Given the description of an element on the screen output the (x, y) to click on. 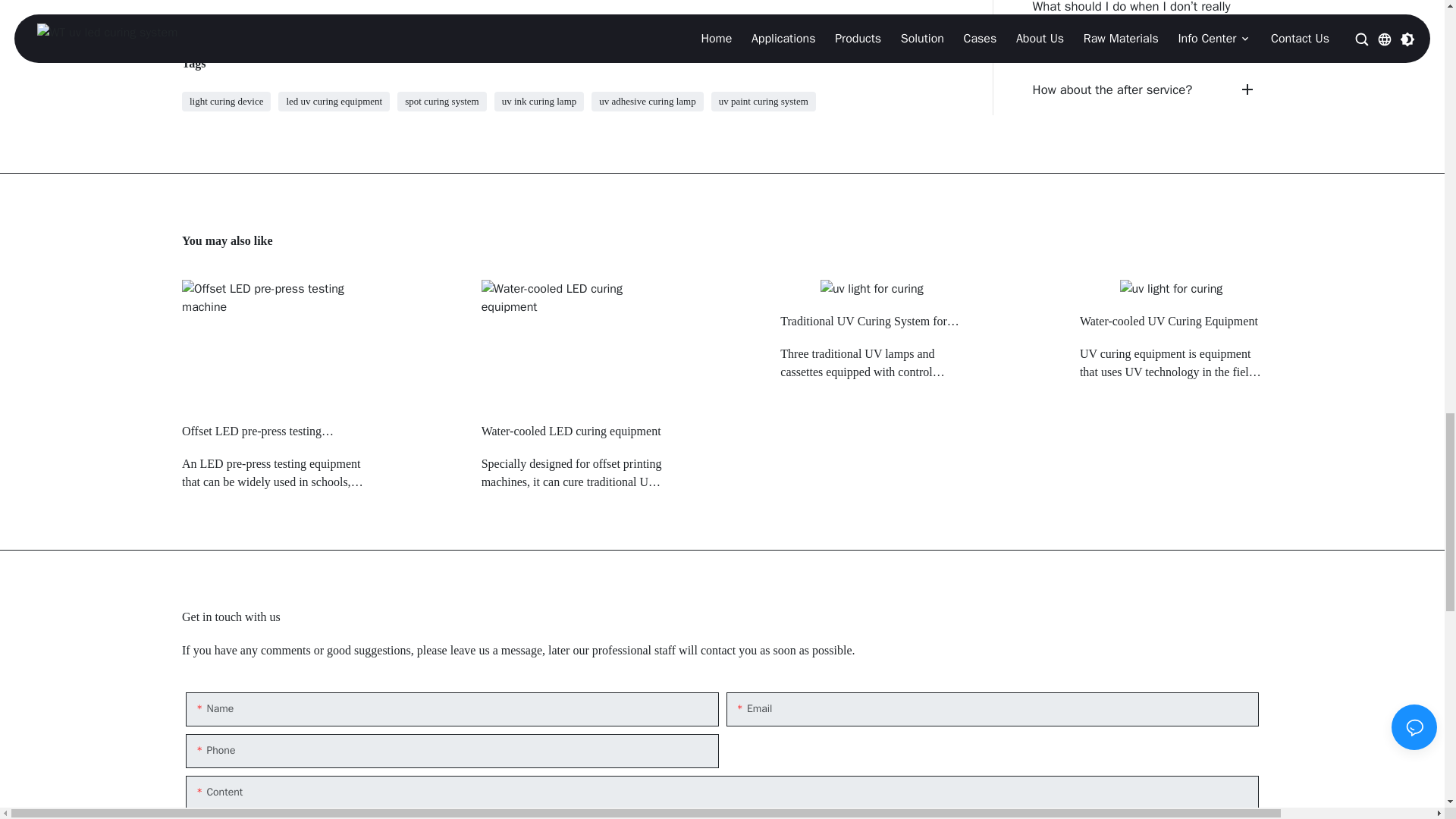
light curing device (226, 101)
led uv curing equipment (334, 101)
spot curing system (441, 101)
